Given the description of an element on the screen output the (x, y) to click on. 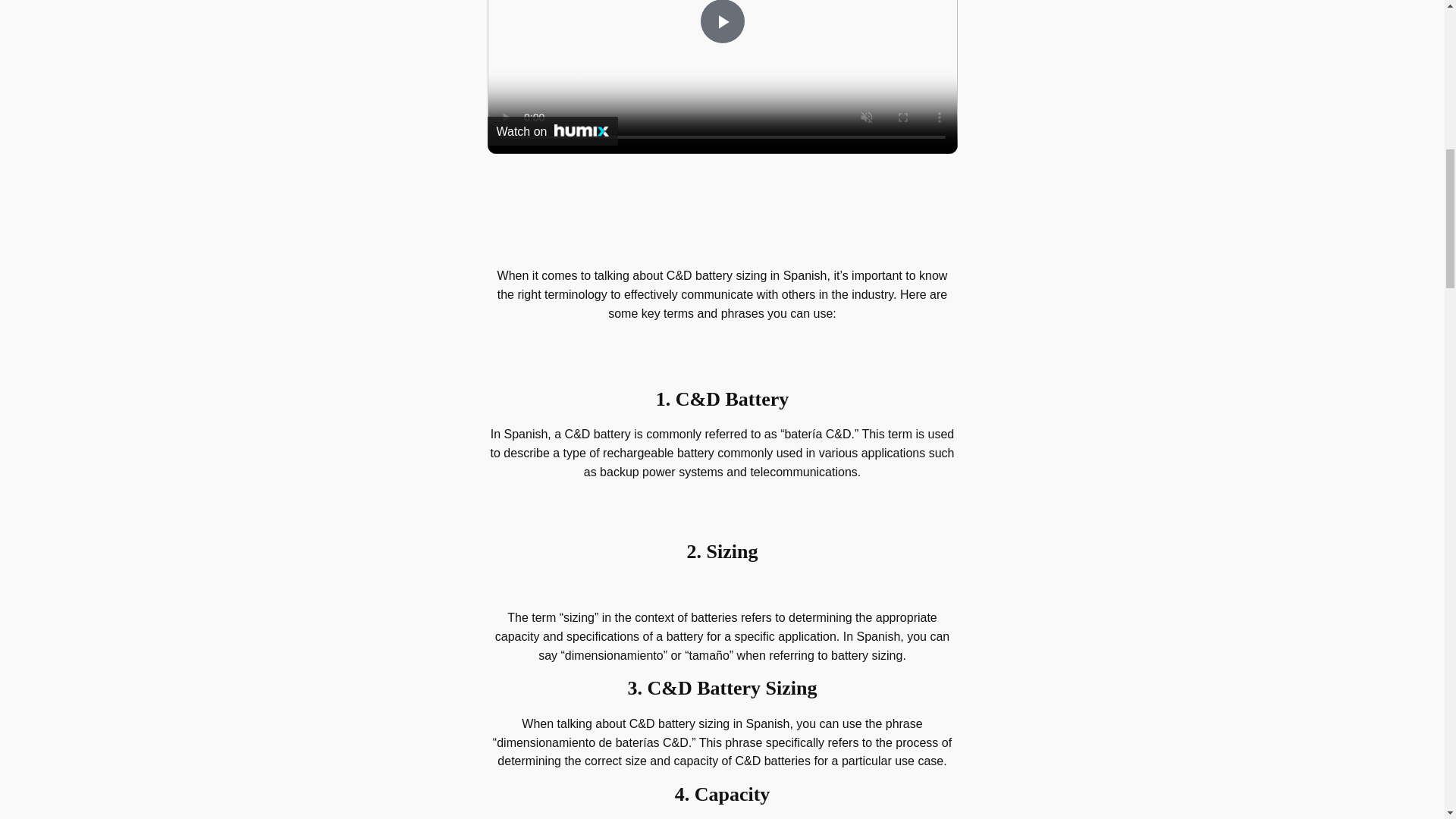
Play Video (721, 22)
Watch on (551, 131)
Play Video (721, 22)
